Given the description of an element on the screen output the (x, y) to click on. 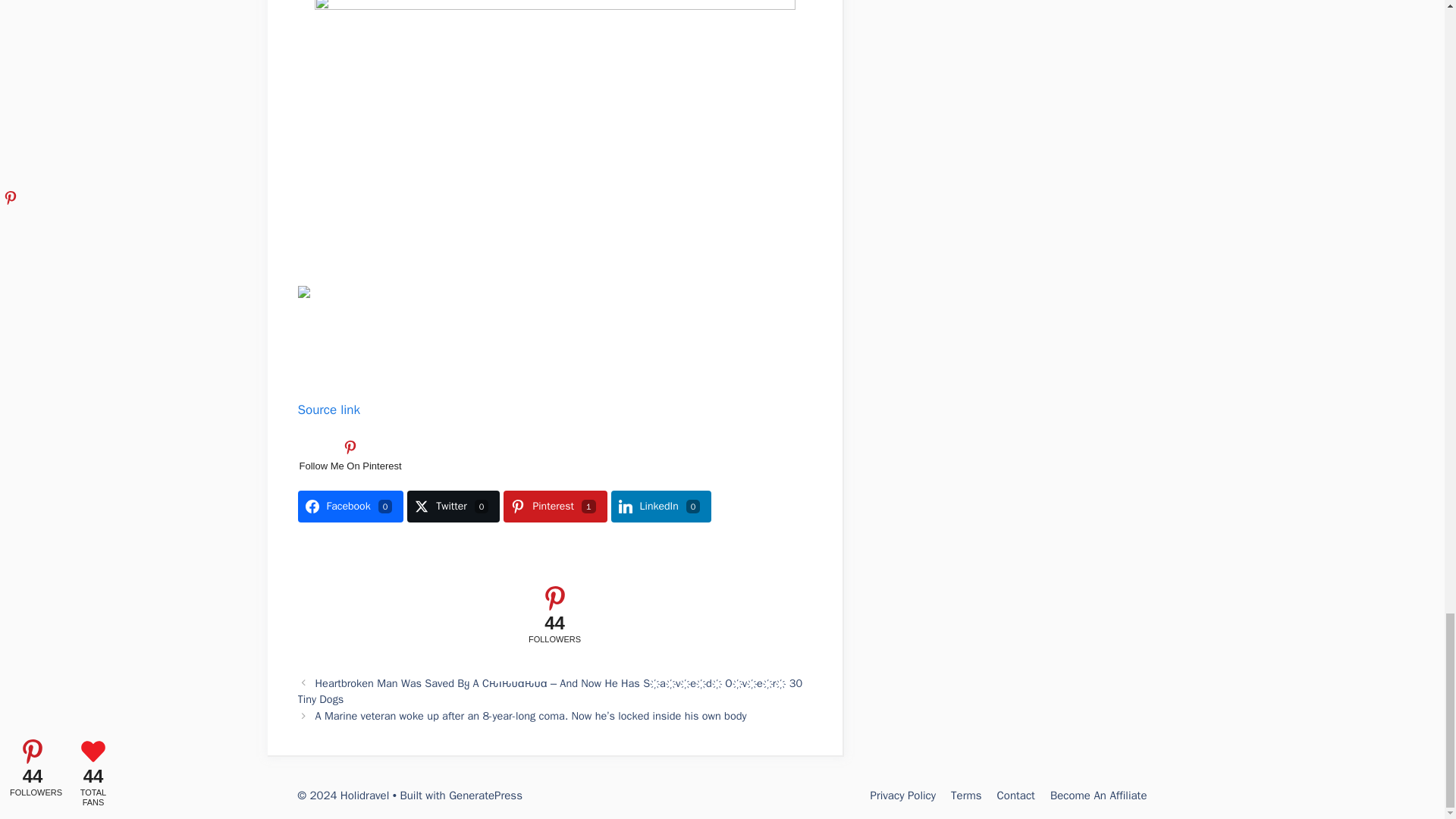
Share on Twitter (453, 506)
Pinterest1 (555, 506)
Become An Affiliate (1098, 795)
Facebook0 (350, 506)
Share on Facebook (350, 506)
Twitter0 (453, 506)
LinkedIn0 (661, 506)
Share on LinkedIn (661, 506)
Terms (965, 795)
Contact (1016, 795)
